Given the description of an element on the screen output the (x, y) to click on. 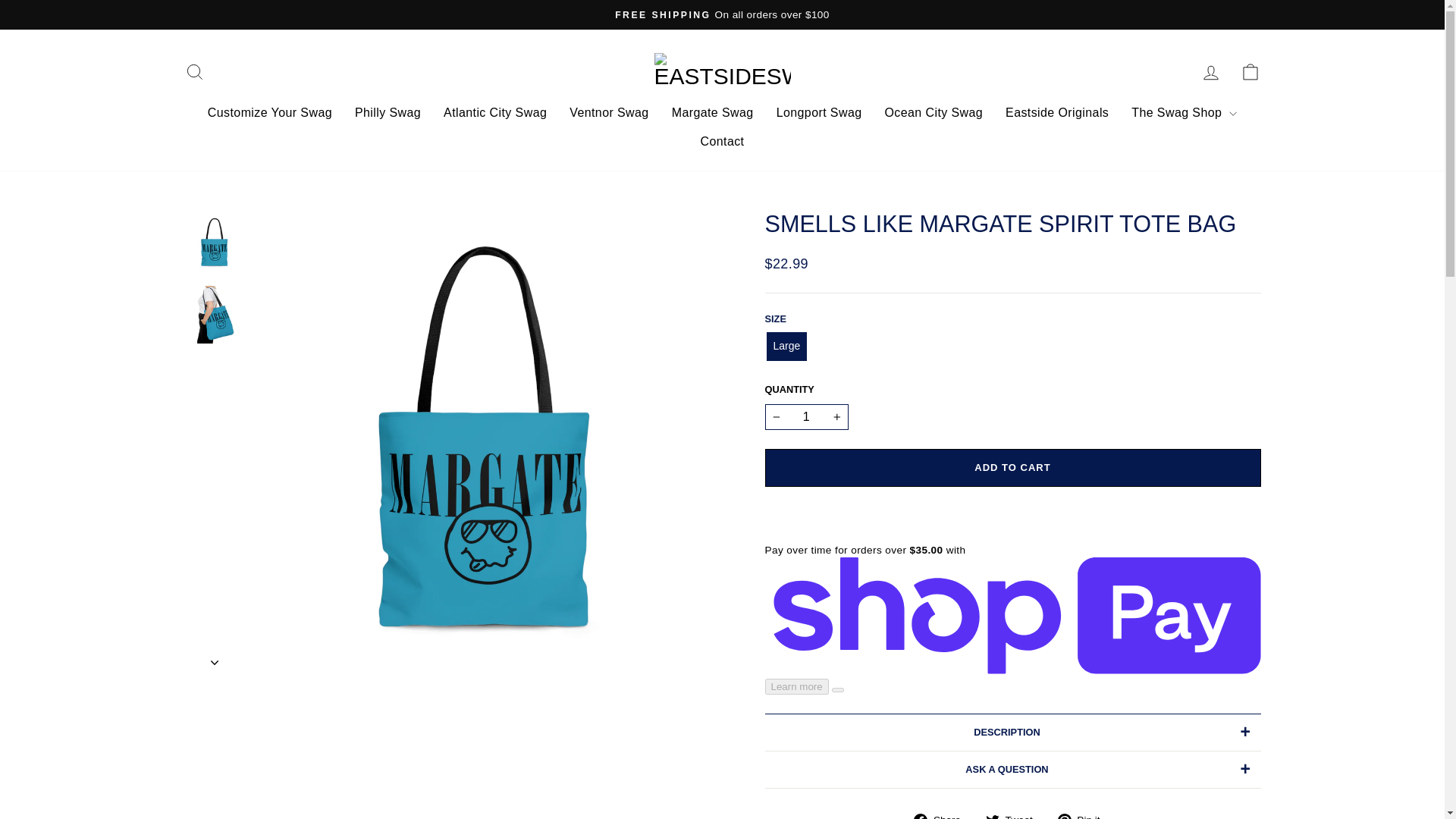
1 (805, 416)
icon-chevron (194, 72)
icon-bag-minimal (214, 662)
Tweet on Twitter (1249, 71)
account (1014, 815)
icon-search (1210, 72)
Share on Facebook (194, 71)
Large (943, 815)
Pin on Pinterest (991, 816)
